Given the description of an element on the screen output the (x, y) to click on. 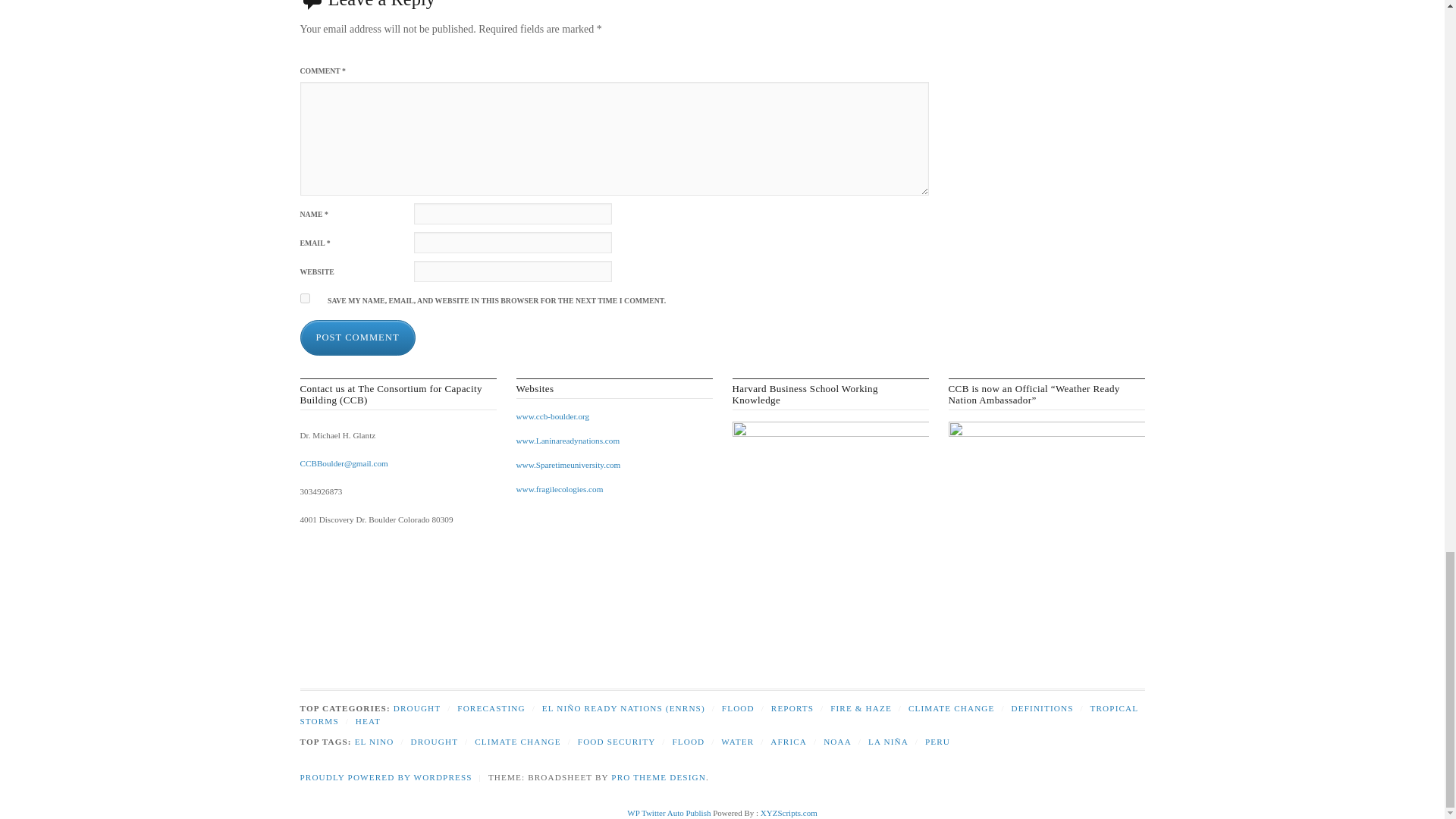
WP Twitter Auto Publish (668, 812)
Post Comment (356, 337)
yes (304, 298)
A Semantic Personal Publishing Platform (385, 777)
